Given the description of an element on the screen output the (x, y) to click on. 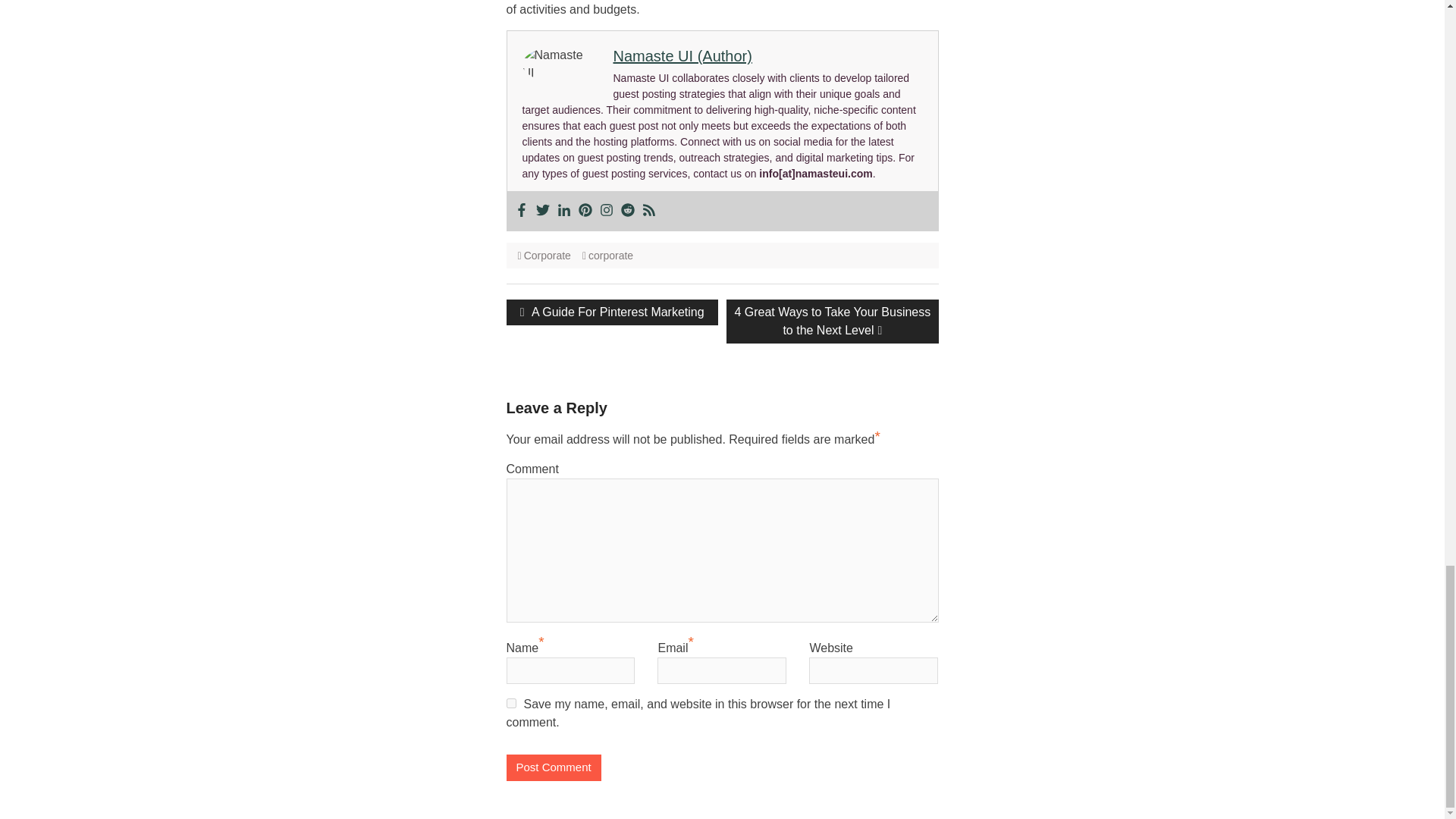
Post Comment (553, 767)
yes (511, 703)
